Given the description of an element on the screen output the (x, y) to click on. 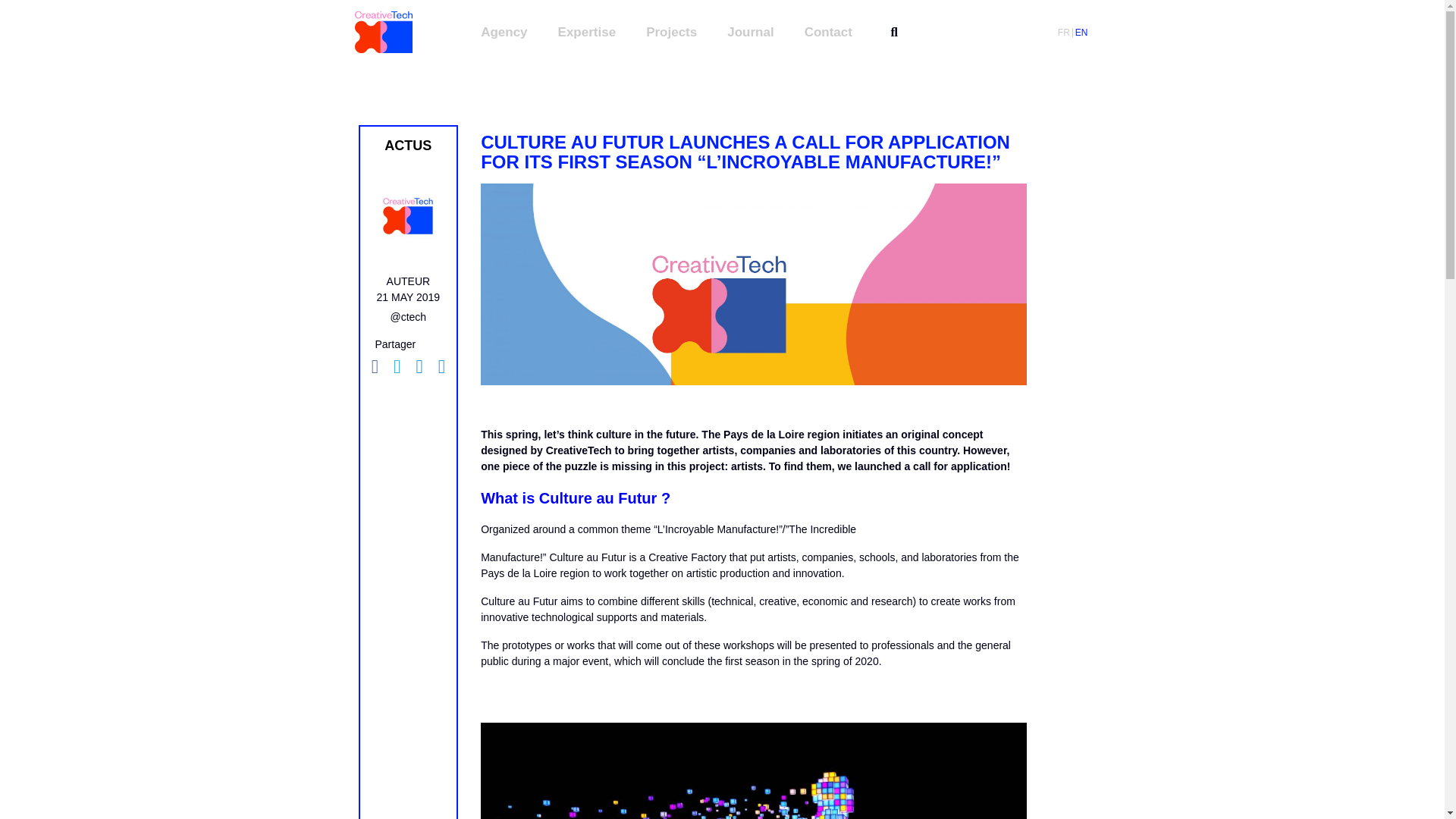
Projects (671, 32)
FR (1063, 32)
Journal (749, 32)
Agency (503, 32)
Contact (828, 32)
Expertise (586, 32)
EN (1081, 32)
